Given the description of an element on the screen output the (x, y) to click on. 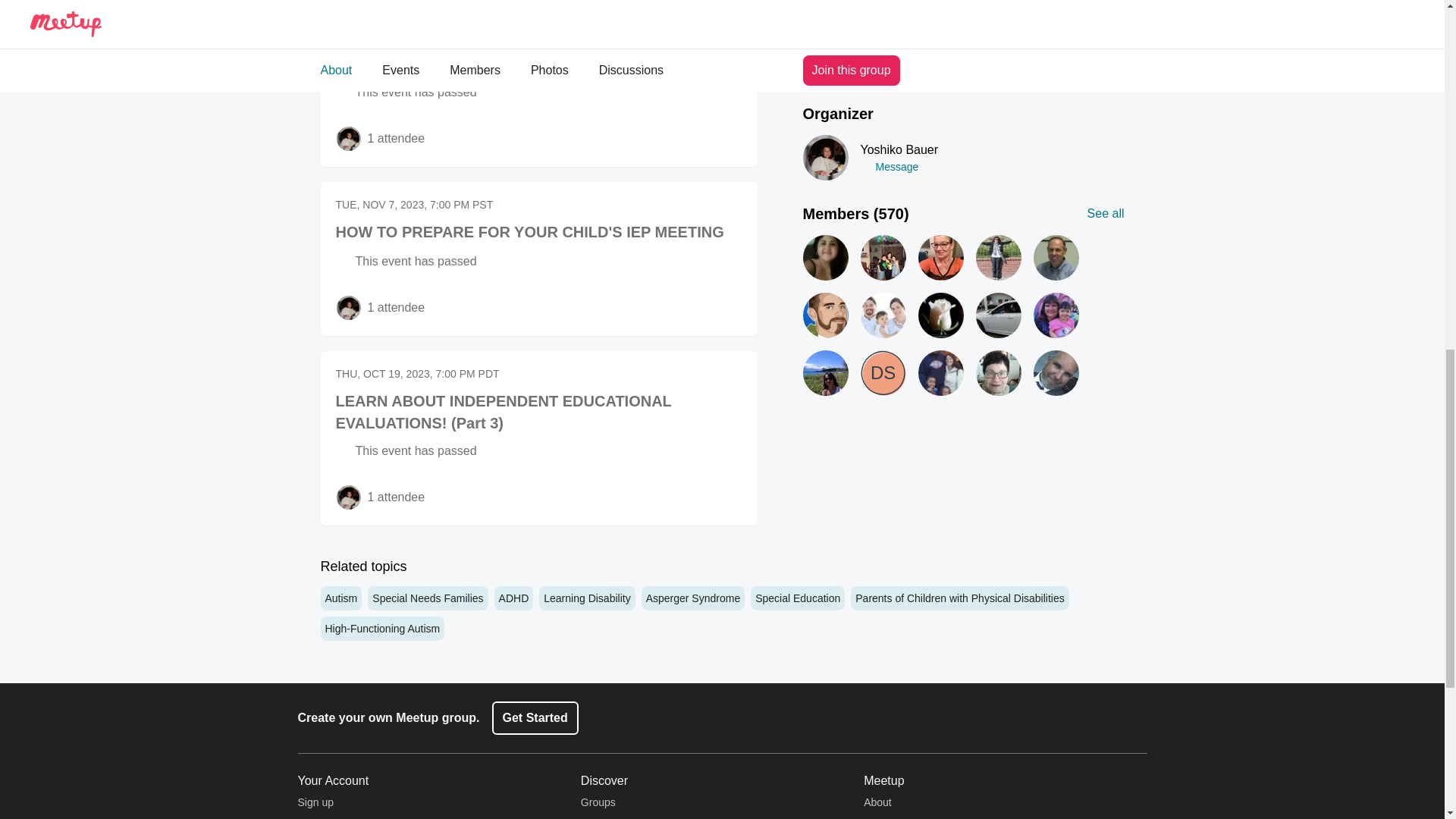
Special Needs Families (427, 598)
Parents of Children with Physical Disabilities (959, 598)
Get Started (535, 717)
Autism (340, 598)
Asperger Syndrome (693, 598)
ADHD (514, 598)
Special Education (797, 598)
Learning Disability (586, 598)
High-Functioning Autism (382, 628)
